Given the description of an element on the screen output the (x, y) to click on. 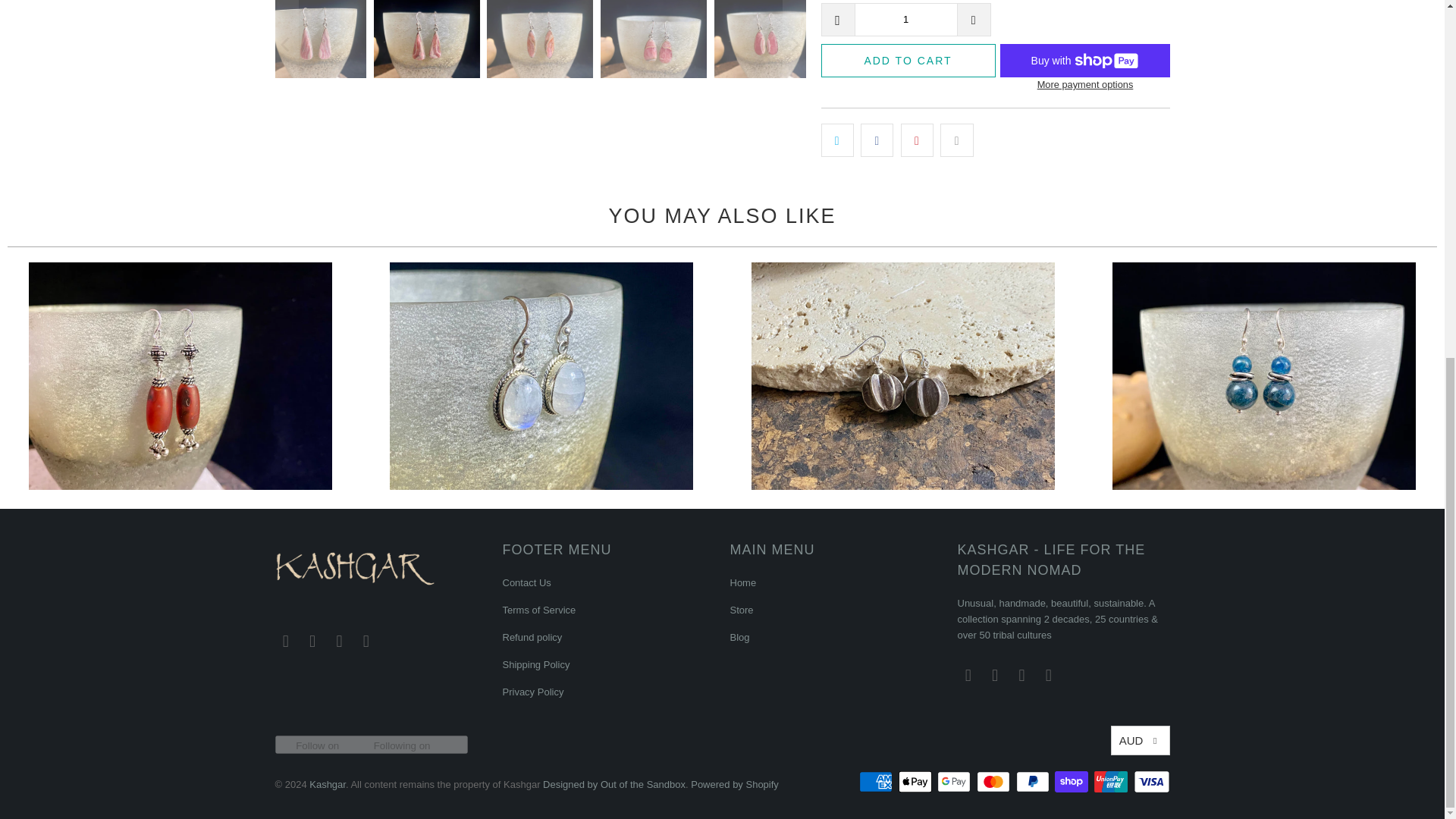
Kashgar on Instagram (339, 641)
Shop Pay (1072, 781)
Share this on Facebook (876, 140)
Email this to a friend (956, 140)
Google Pay (955, 781)
Mastercard (994, 781)
Union Pay (1112, 781)
Kashgar on Pinterest (366, 641)
Apple Pay (916, 781)
Kashgar on Facebook (312, 641)
Share this on Twitter (837, 140)
Visa (1150, 781)
1 (904, 19)
American Express (877, 781)
Email Kashgar (286, 641)
